Given the description of an element on the screen output the (x, y) to click on. 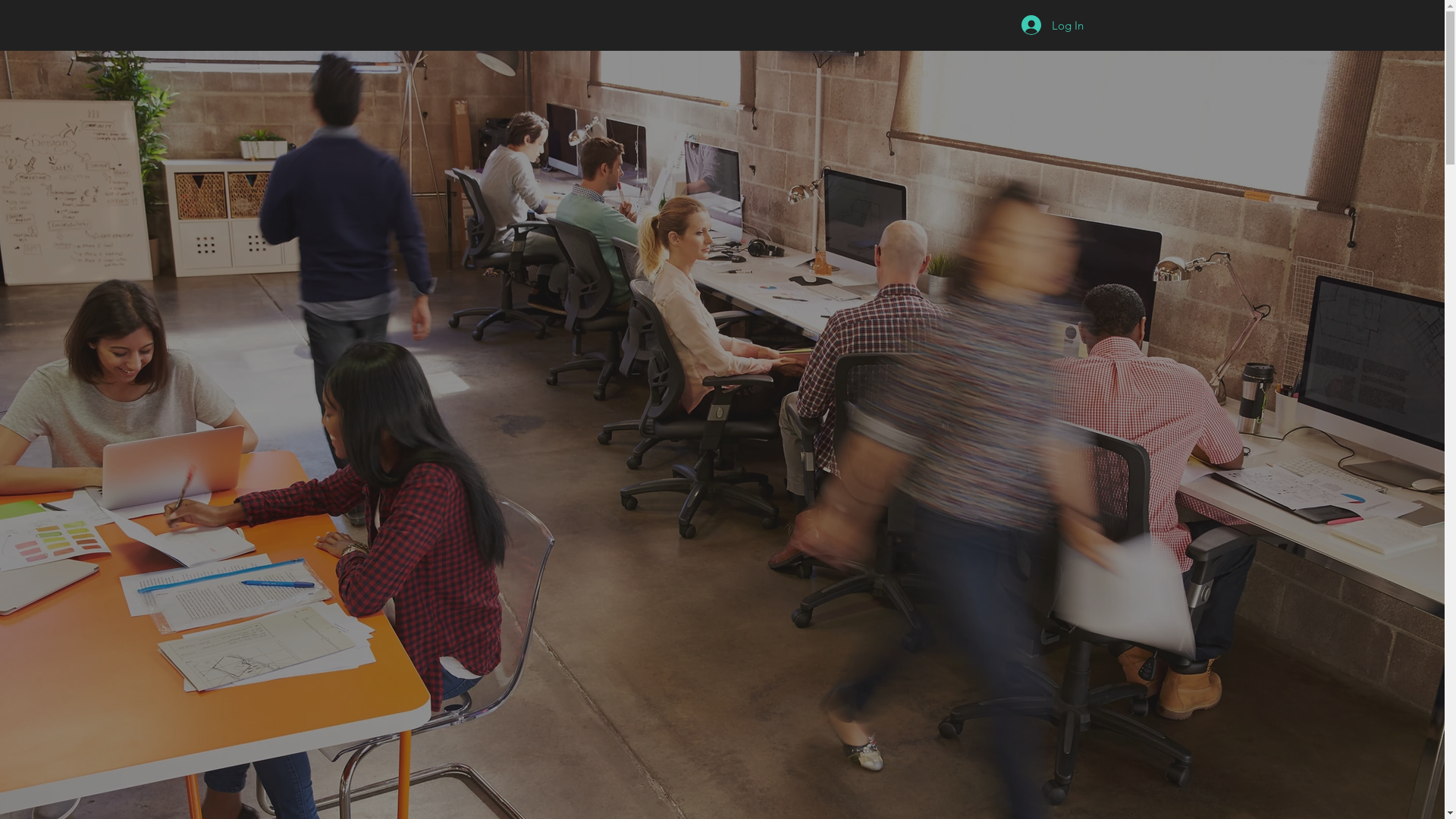
Log In Element type: text (1051, 24)
